Given the description of an element on the screen output the (x, y) to click on. 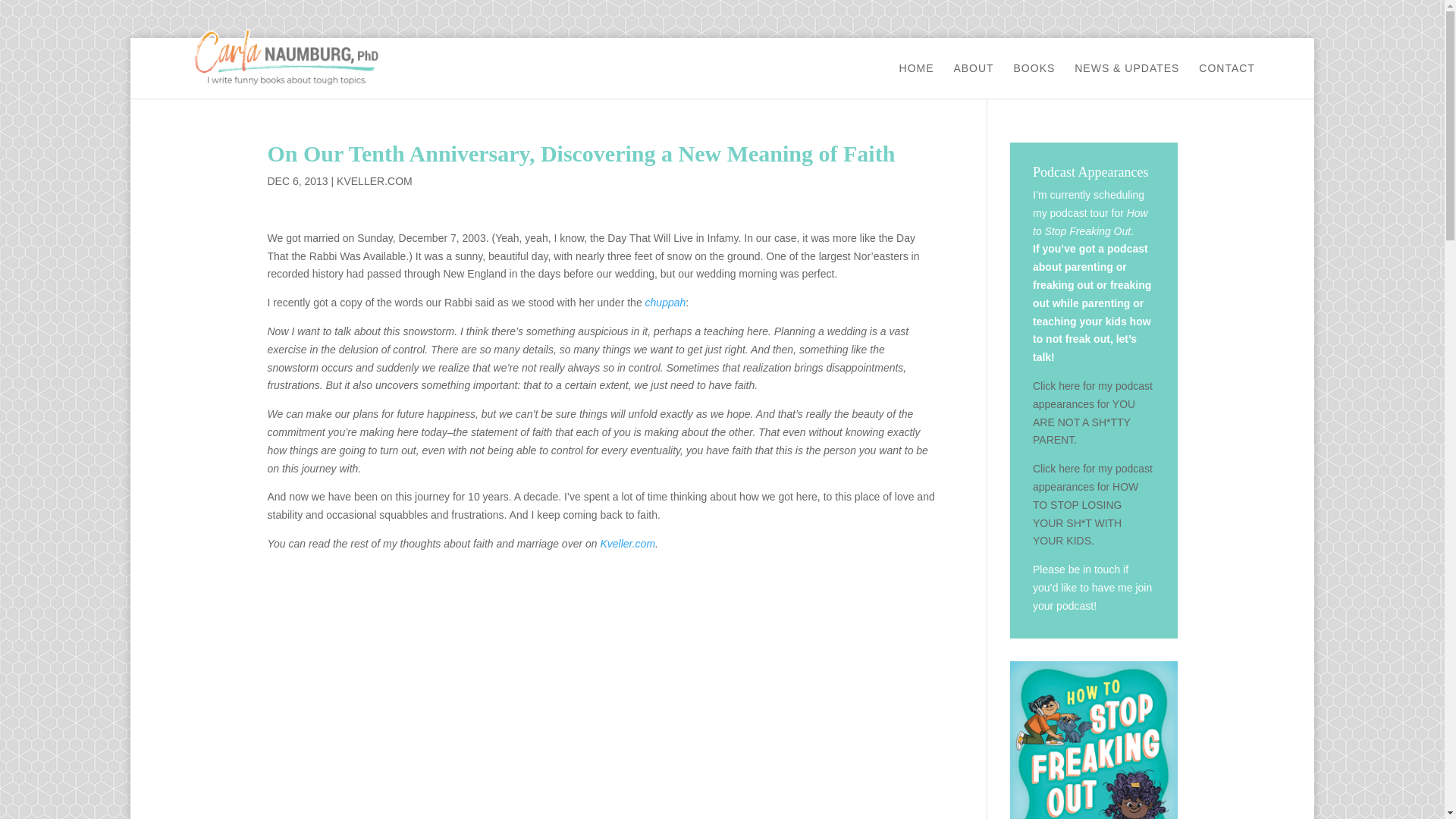
chuppah (665, 302)
BOOKS (1034, 80)
ABOUT (972, 80)
Kveller.com (627, 543)
HOME (916, 80)
CONTACT (1226, 80)
KVELLER.COM (374, 181)
